Given the description of an element on the screen output the (x, y) to click on. 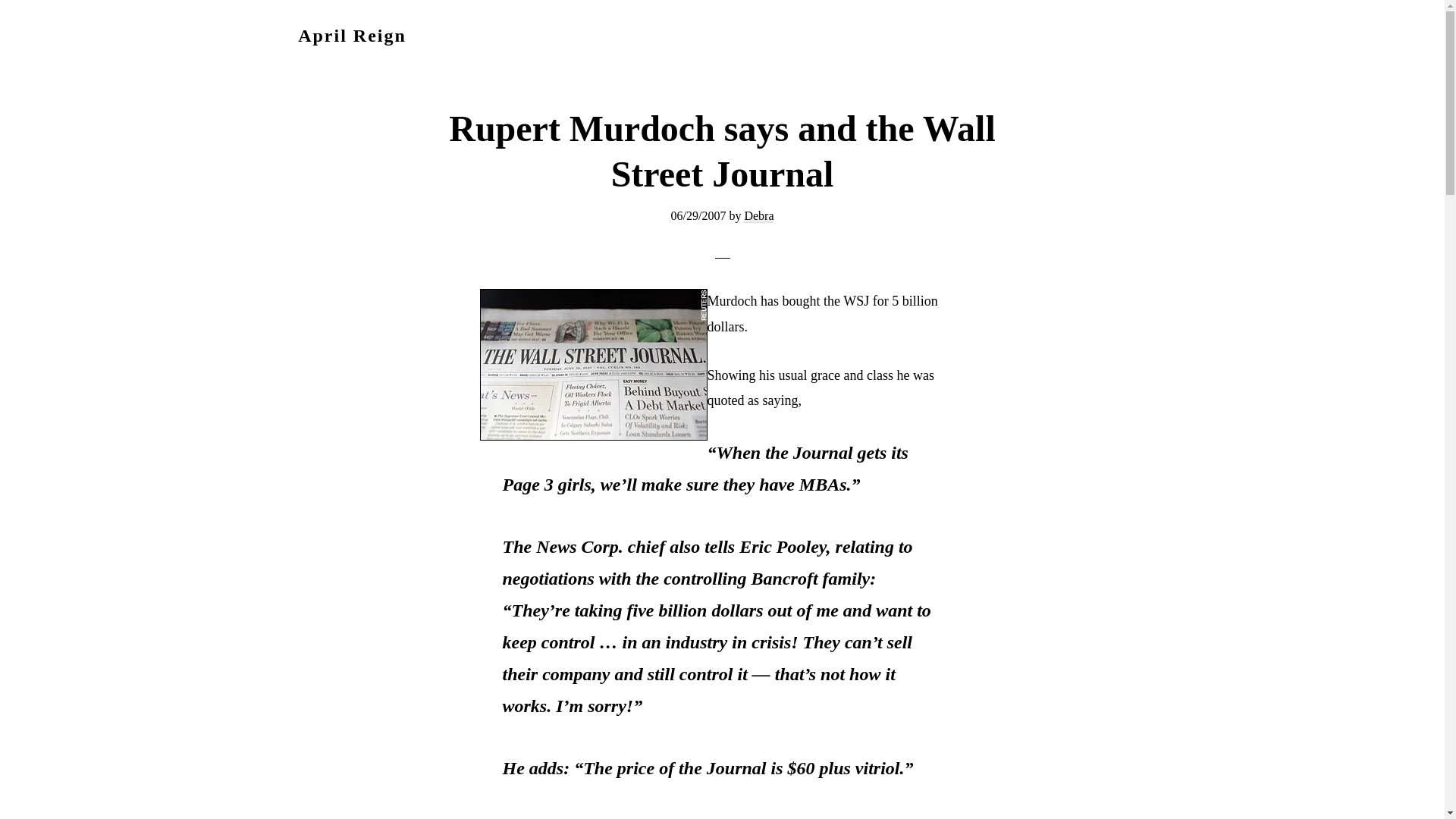
Debra (758, 215)
April Reign (352, 35)
